Given the description of an element on the screen output the (x, y) to click on. 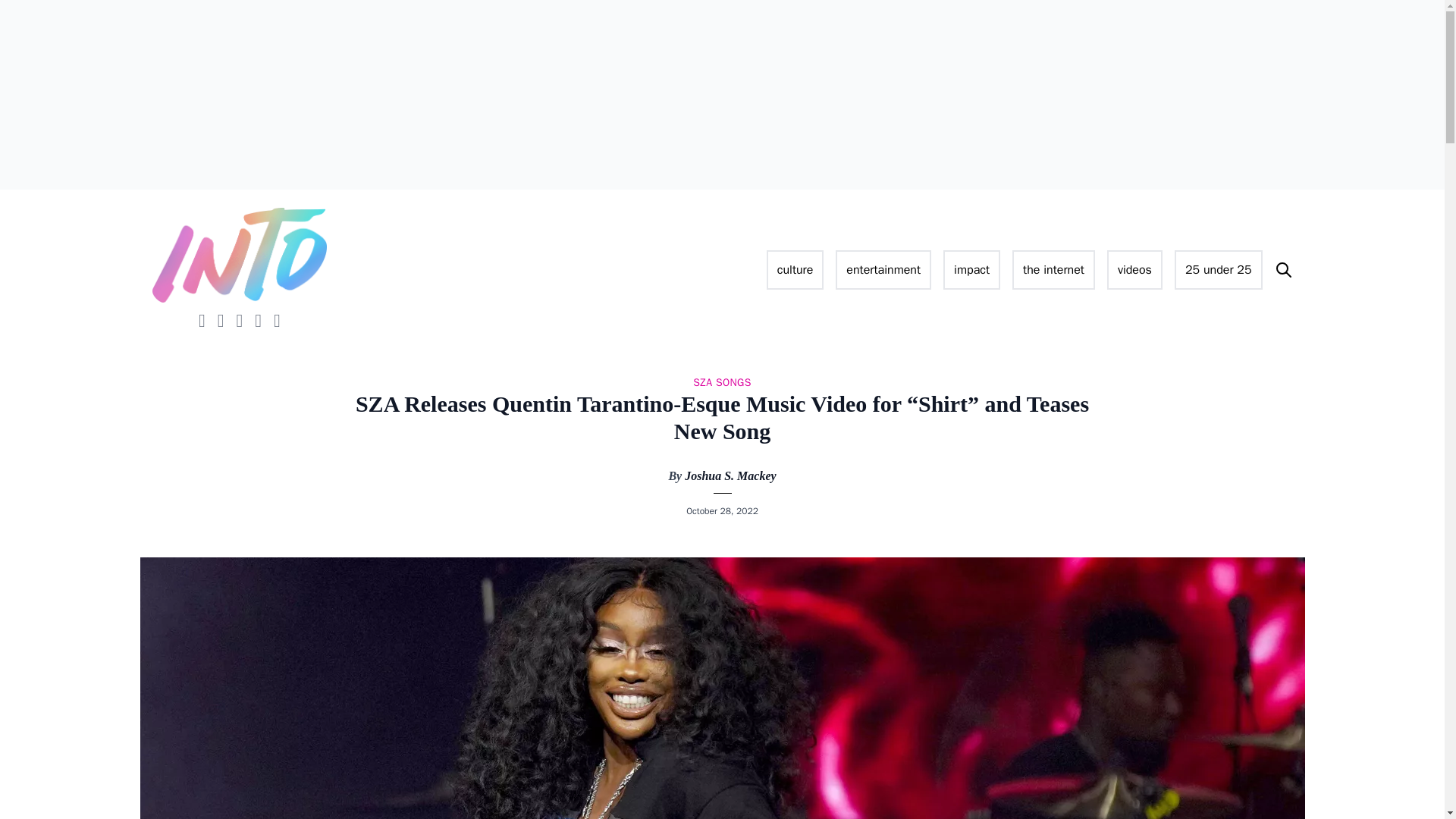
the internet (1052, 269)
Joshua S. Mackey (730, 475)
videos (1133, 269)
impact (971, 269)
entertainment (883, 269)
25 under 25 (1218, 269)
culture (795, 269)
